Given the description of an element on the screen output the (x, y) to click on. 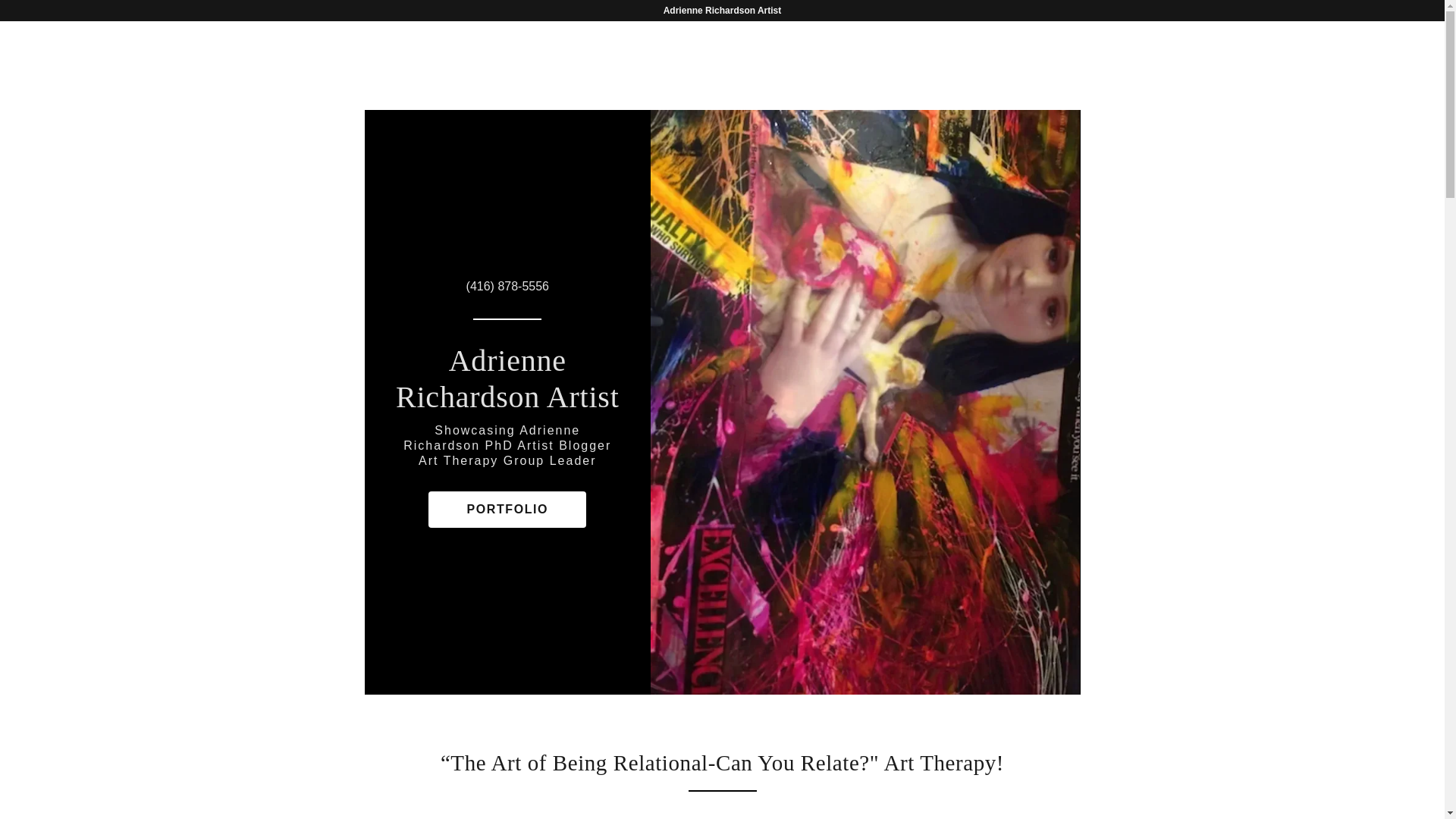
Adrienne Richardson Artist (507, 379)
PORTFOLIO (507, 509)
Adrienne Richardson Artist (507, 379)
